Given the description of an element on the screen output the (x, y) to click on. 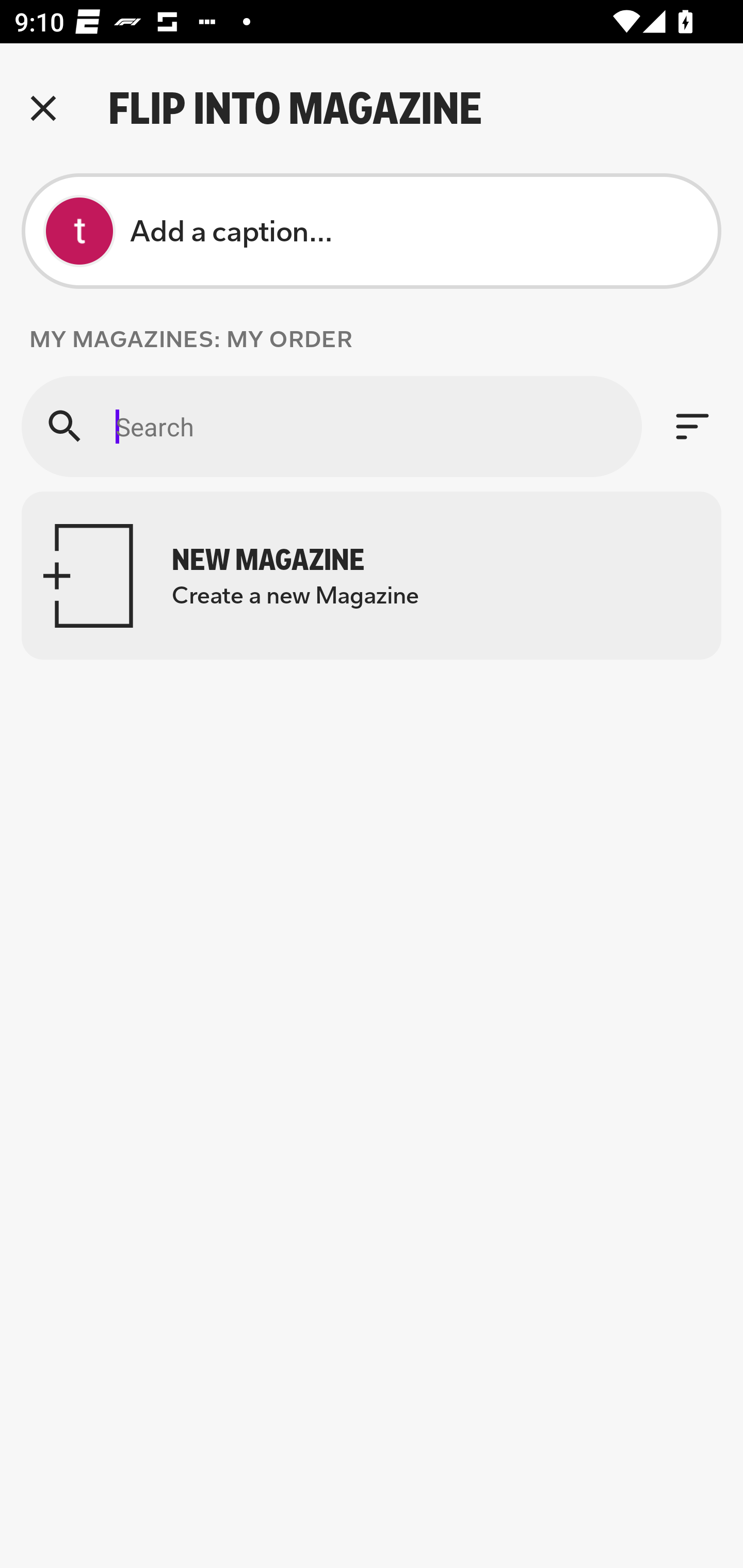
test appium Add a caption… (371, 231)
Search (331, 426)
NEW MAGAZINE Create a new Magazine (371, 575)
